Given the description of an element on the screen output the (x, y) to click on. 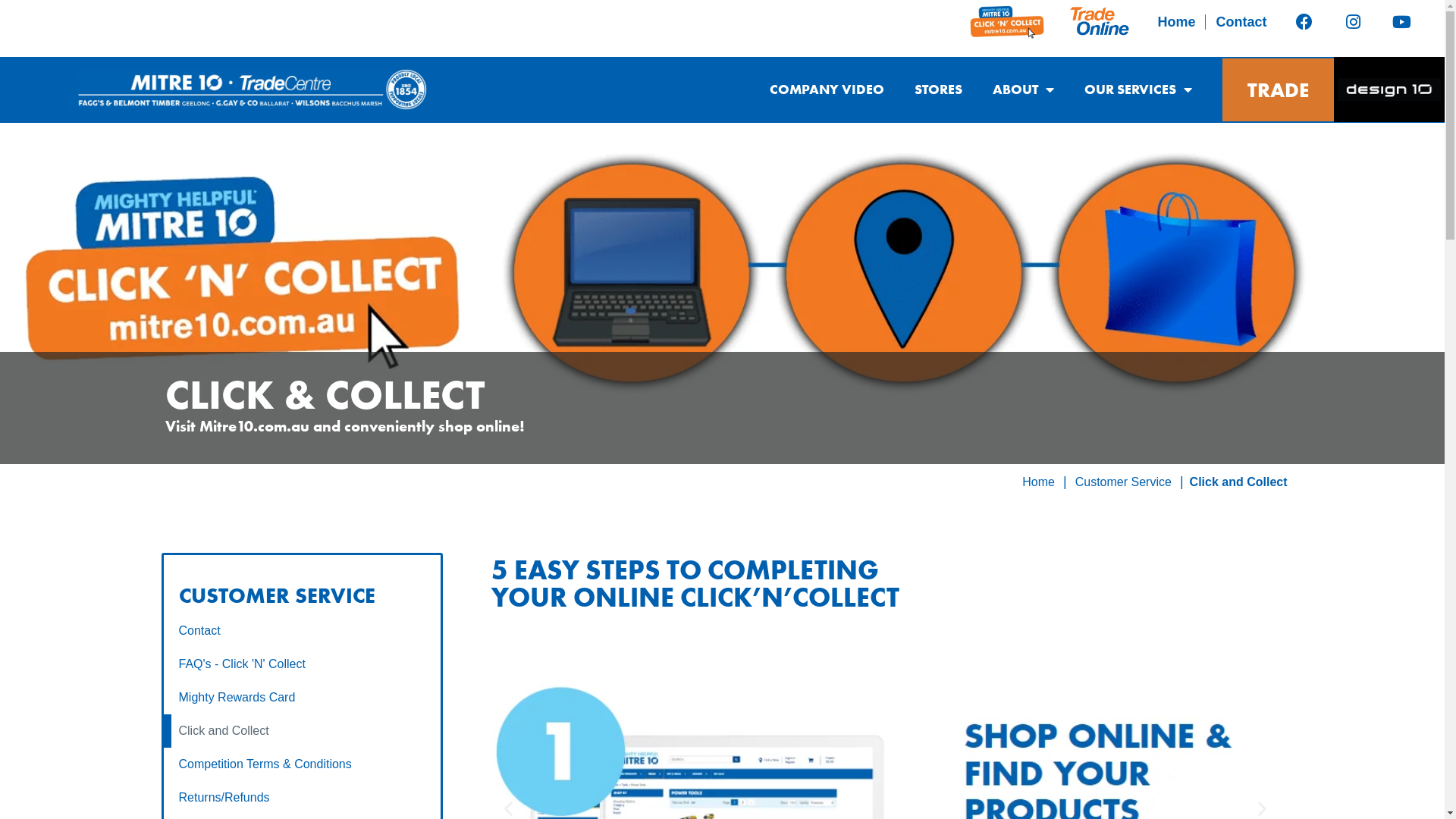
Returns/Refunds Element type: text (302, 797)
COMPANY VIDEO Element type: text (826, 89)
Contact Element type: text (1240, 21)
Customer Service Element type: text (1123, 481)
OUR SERVICES Element type: text (1138, 89)
Competition Terms & Conditions Element type: text (302, 764)
Mighty Rewards Card Element type: text (302, 697)
Home Element type: text (1038, 481)
Contact Element type: text (302, 630)
TRADE Element type: text (1277, 89)
Click and Collect Element type: text (302, 730)
Home Element type: text (1176, 21)
FAQ's - Click 'N' Collect Element type: text (302, 663)
CUSTOMER SERVICE Element type: text (276, 595)
ABOUT Element type: text (1023, 89)
STORES Element type: text (938, 89)
